Given the description of an element on the screen output the (x, y) to click on. 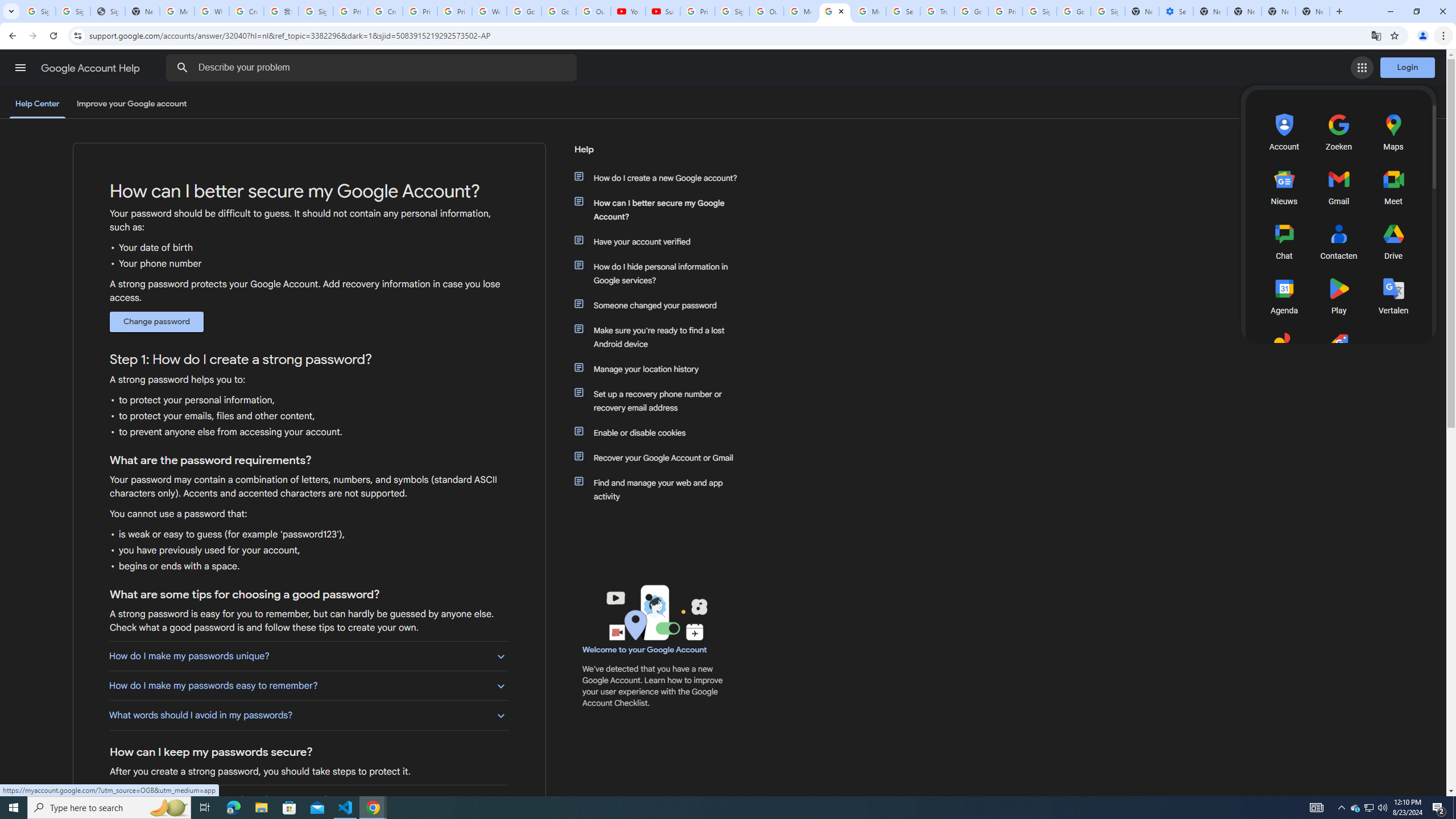
Enable or disable cookies (661, 432)
How do I create a new Google account? (661, 177)
Main menu (20, 67)
Search the Help Center (181, 67)
Google Account (Opens in new window) (1395, 103)
